Given the description of an element on the screen output the (x, y) to click on. 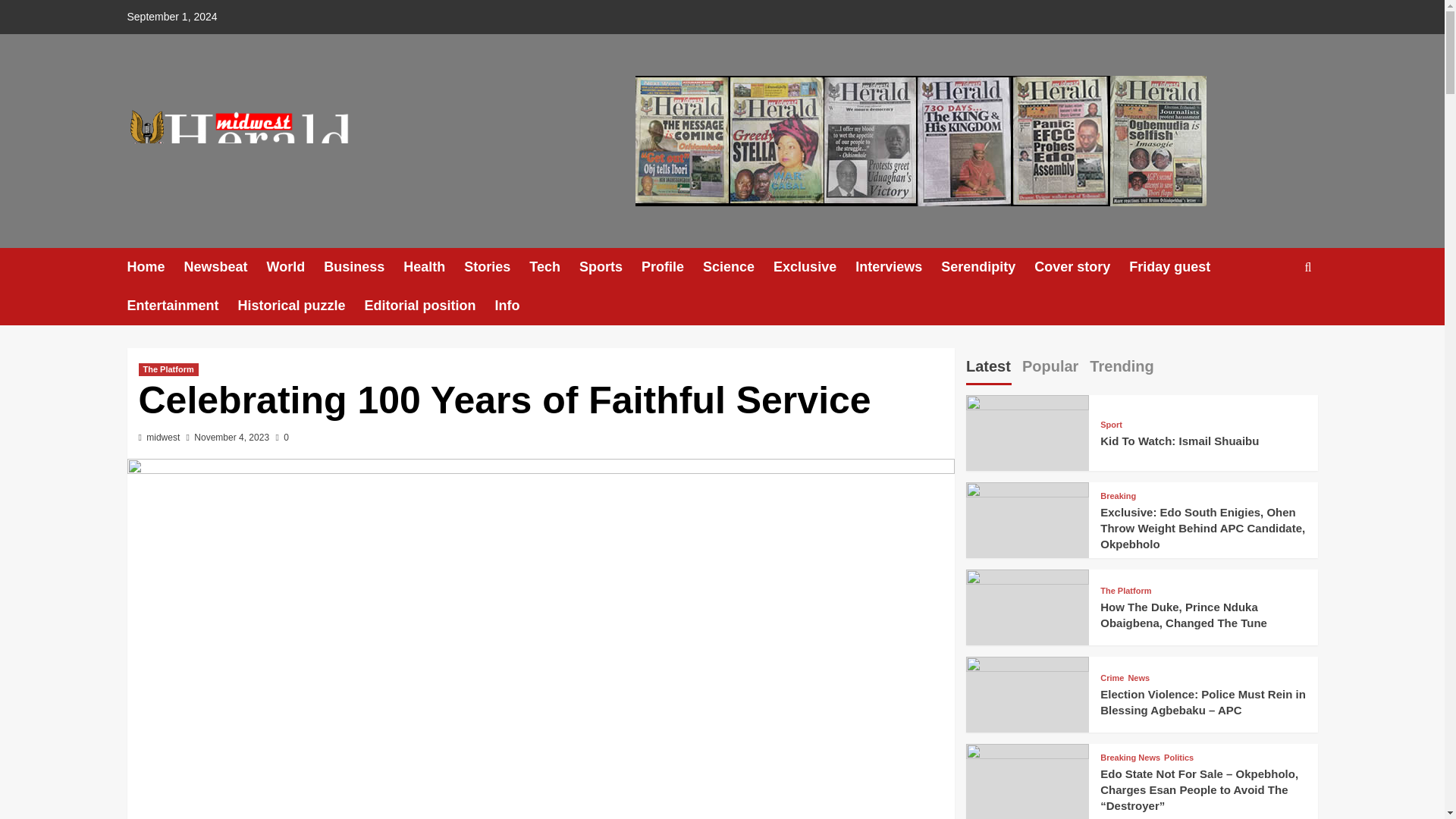
Friday guest (1178, 267)
midwest (163, 437)
Editorial position (430, 305)
Health (433, 267)
0 (281, 437)
Serendipity (986, 267)
Science (738, 267)
Info (516, 305)
Newsbeat (225, 267)
Stories (496, 267)
